Given the description of an element on the screen output the (x, y) to click on. 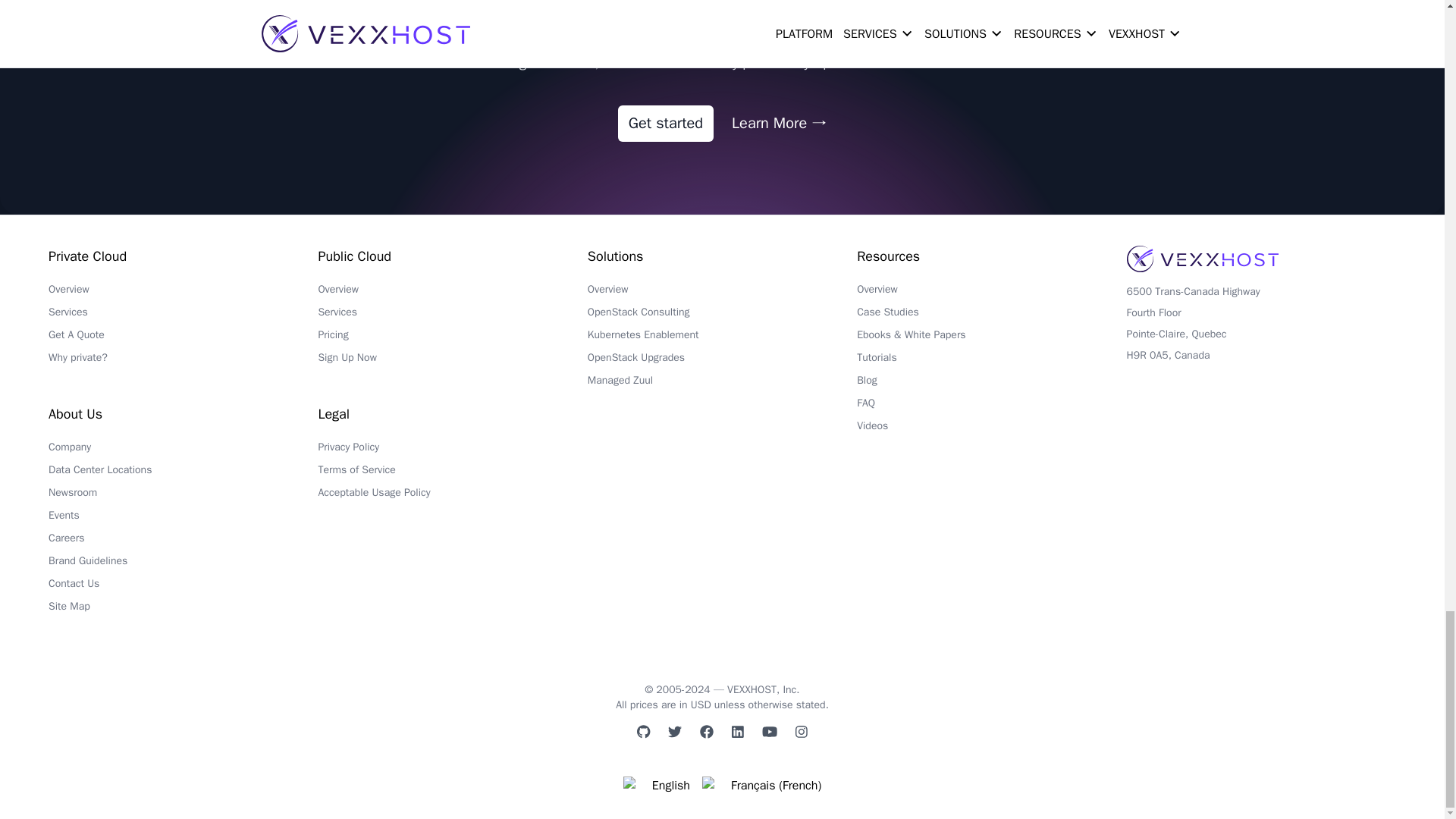
Get started (665, 123)
Overview (182, 292)
Why private? (182, 361)
Newsroom (182, 496)
Get A Quote (182, 338)
Company (182, 450)
Data Center Locations (182, 473)
Events (182, 518)
Services (182, 315)
